Given the description of an element on the screen output the (x, y) to click on. 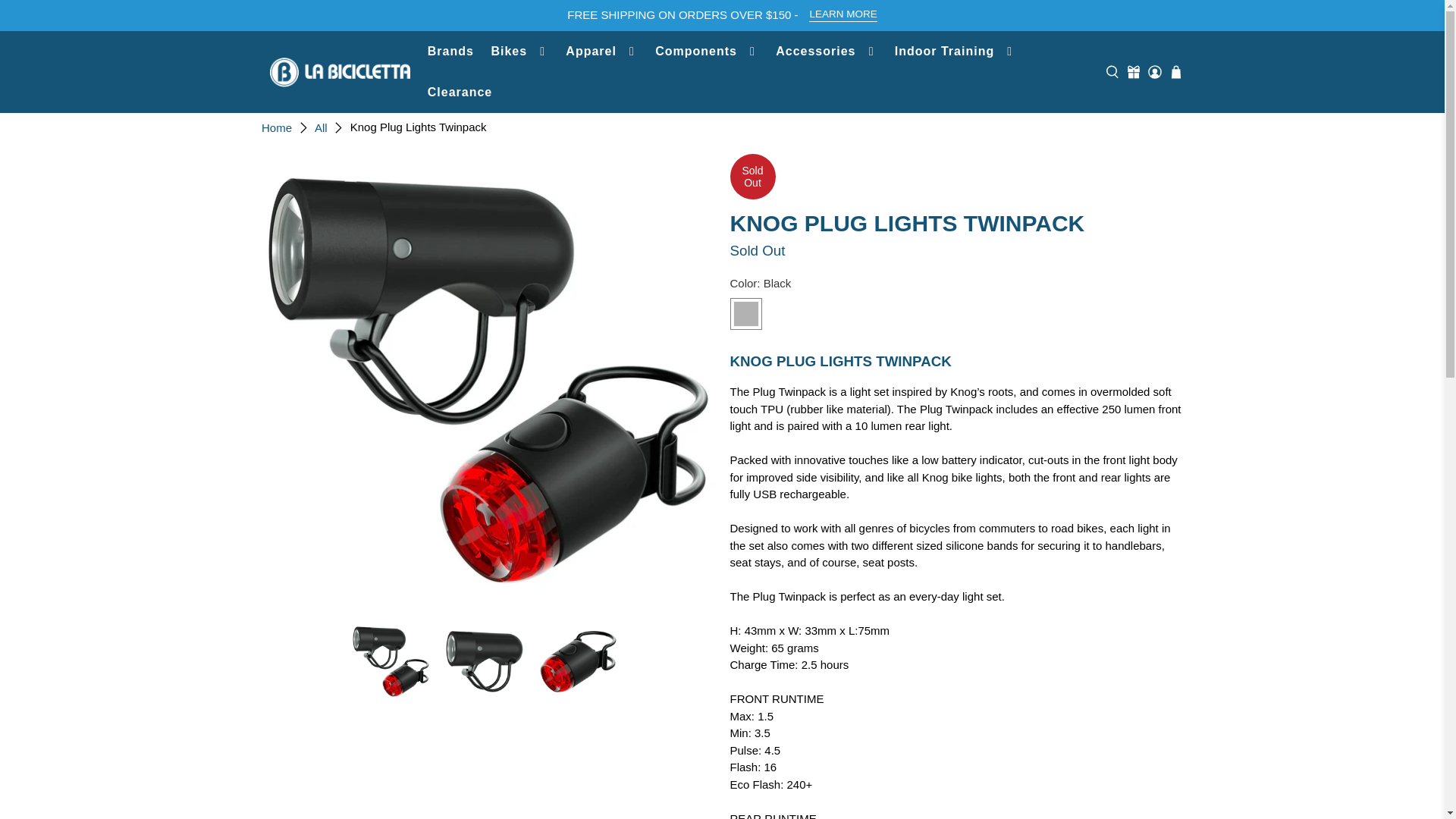
Bikes (519, 51)
LEARN MORE (842, 15)
Brands (450, 51)
La Bicicletta Toronto (339, 71)
